Given the description of an element on the screen output the (x, y) to click on. 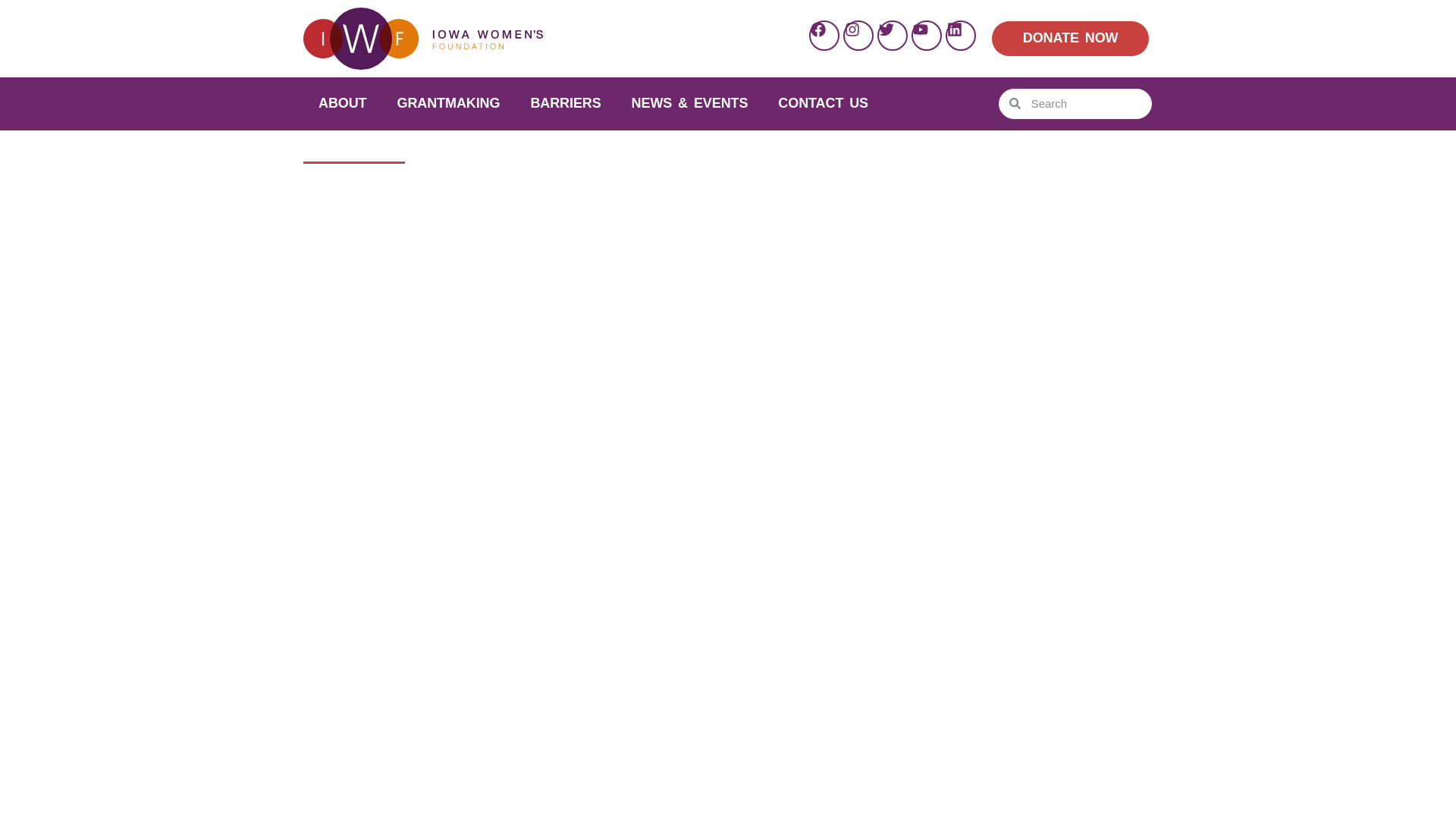
GRANTMAKING (448, 103)
ABOUT (341, 103)
BARRIERS (565, 103)
DONATE NOW (1070, 38)
CONTACT US (822, 103)
